Given the description of an element on the screen output the (x, y) to click on. 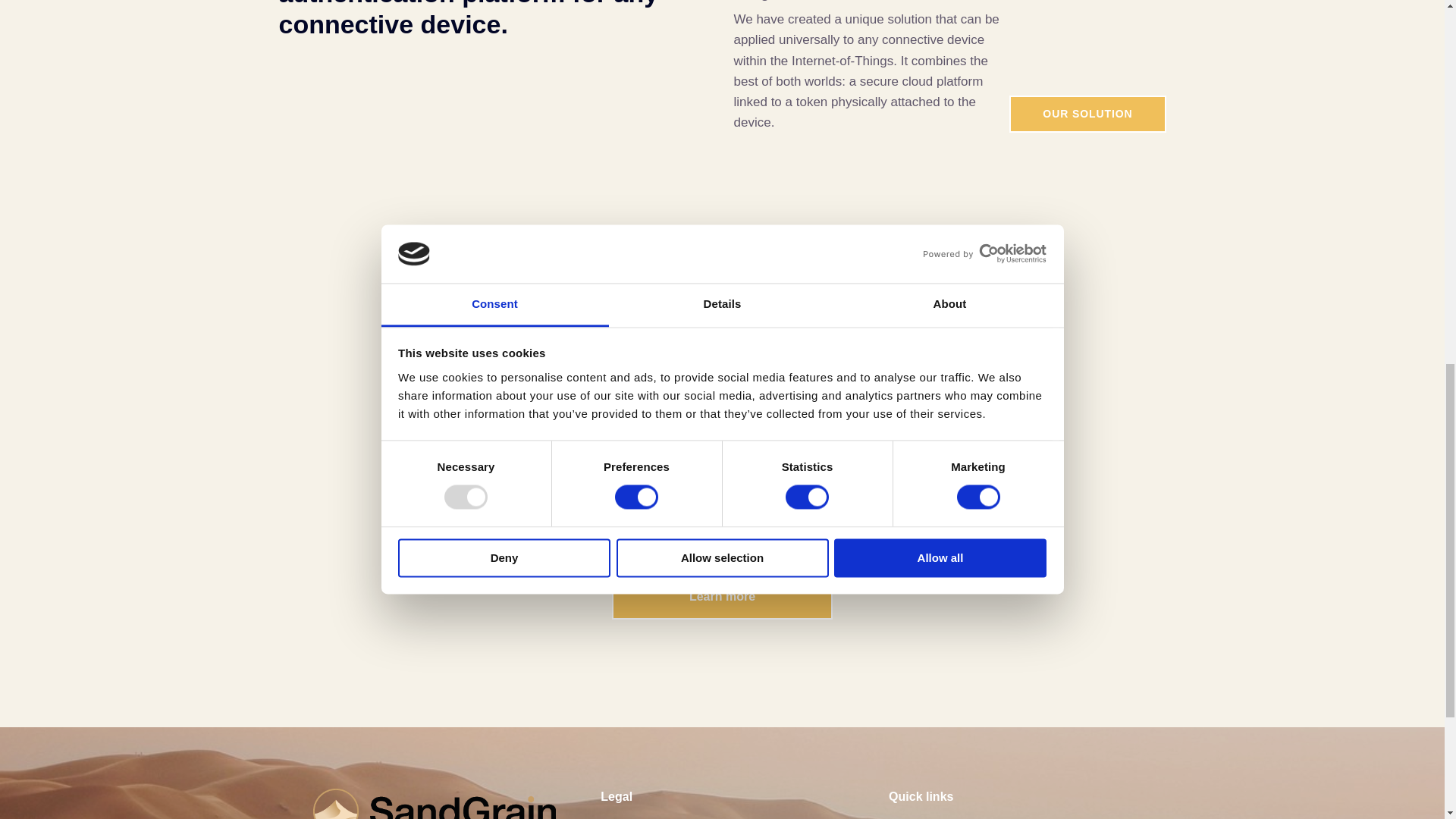
logo sandgrain (433, 803)
